Given the description of an element on the screen output the (x, y) to click on. 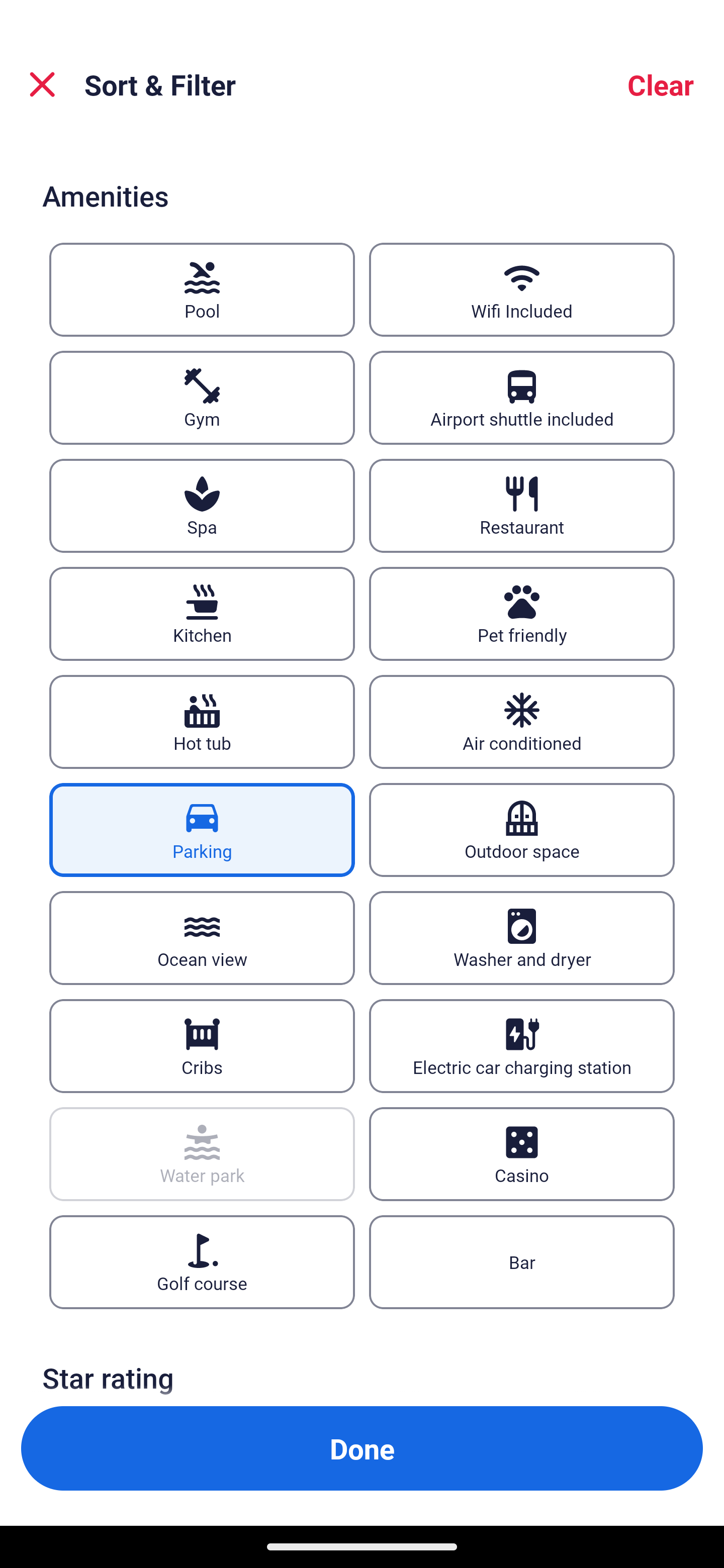
Close Sort and Filter (42, 84)
Clear (660, 84)
Pool (201, 290)
Wifi Included (521, 290)
Gym (201, 398)
Airport shuttle included (521, 398)
Spa (201, 506)
Restaurant (521, 506)
Kitchen (201, 613)
Pet friendly (521, 613)
Hot tub (201, 721)
Air conditioned (521, 721)
Parking (201, 829)
Outdoor space (521, 829)
Ocean view (201, 937)
Washer and dryer (521, 937)
Cribs (201, 1045)
Electric car charging station (521, 1045)
Water park (201, 1154)
Casino (521, 1154)
Golf course (201, 1262)
Bar (521, 1262)
Apply and close Sort and Filter Done (361, 1448)
